Given the description of an element on the screen output the (x, y) to click on. 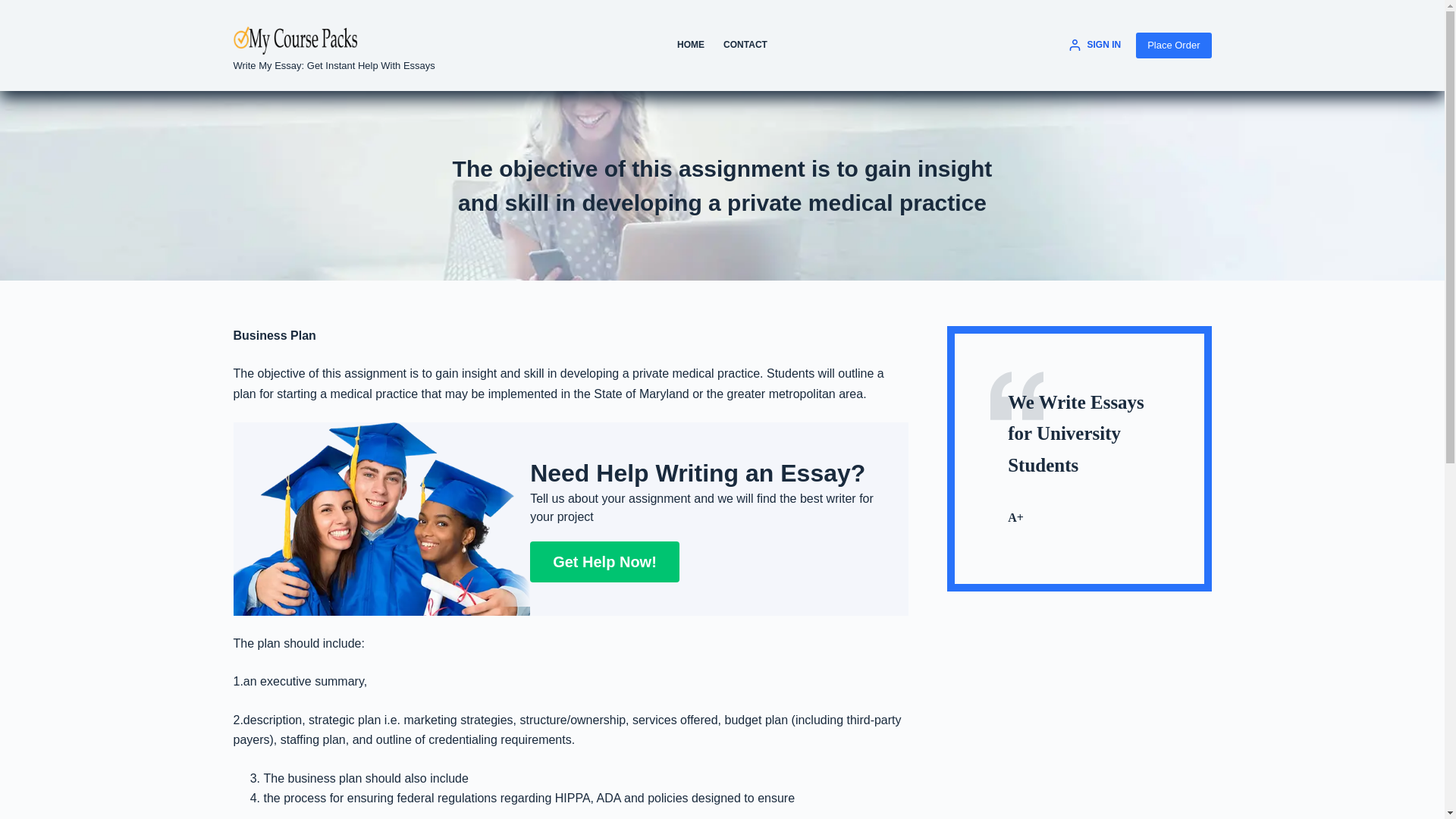
Get Help Now! (604, 561)
SIGN IN (1094, 45)
Place Order (1173, 45)
Skip to content (15, 7)
